Given the description of an element on the screen output the (x, y) to click on. 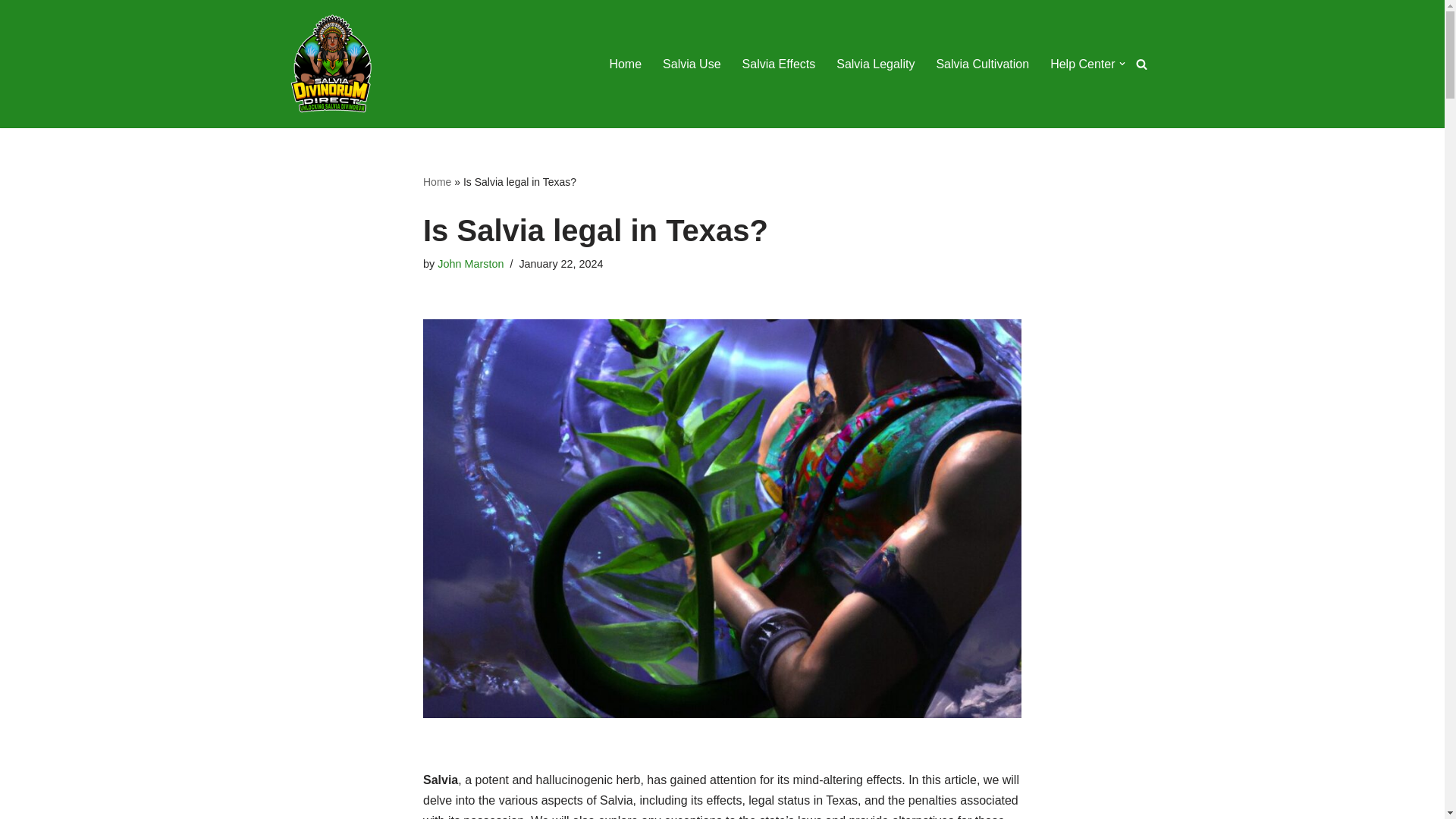
Home (437, 182)
Salvia Use (691, 64)
Salvia Legality (874, 64)
Home (625, 64)
Salvia Cultivation (982, 64)
Help Center (1082, 64)
Skip to content (11, 31)
Salvia Effects (778, 64)
John Marston (470, 263)
Posts by John Marston (470, 263)
